Given the description of an element on the screen output the (x, y) to click on. 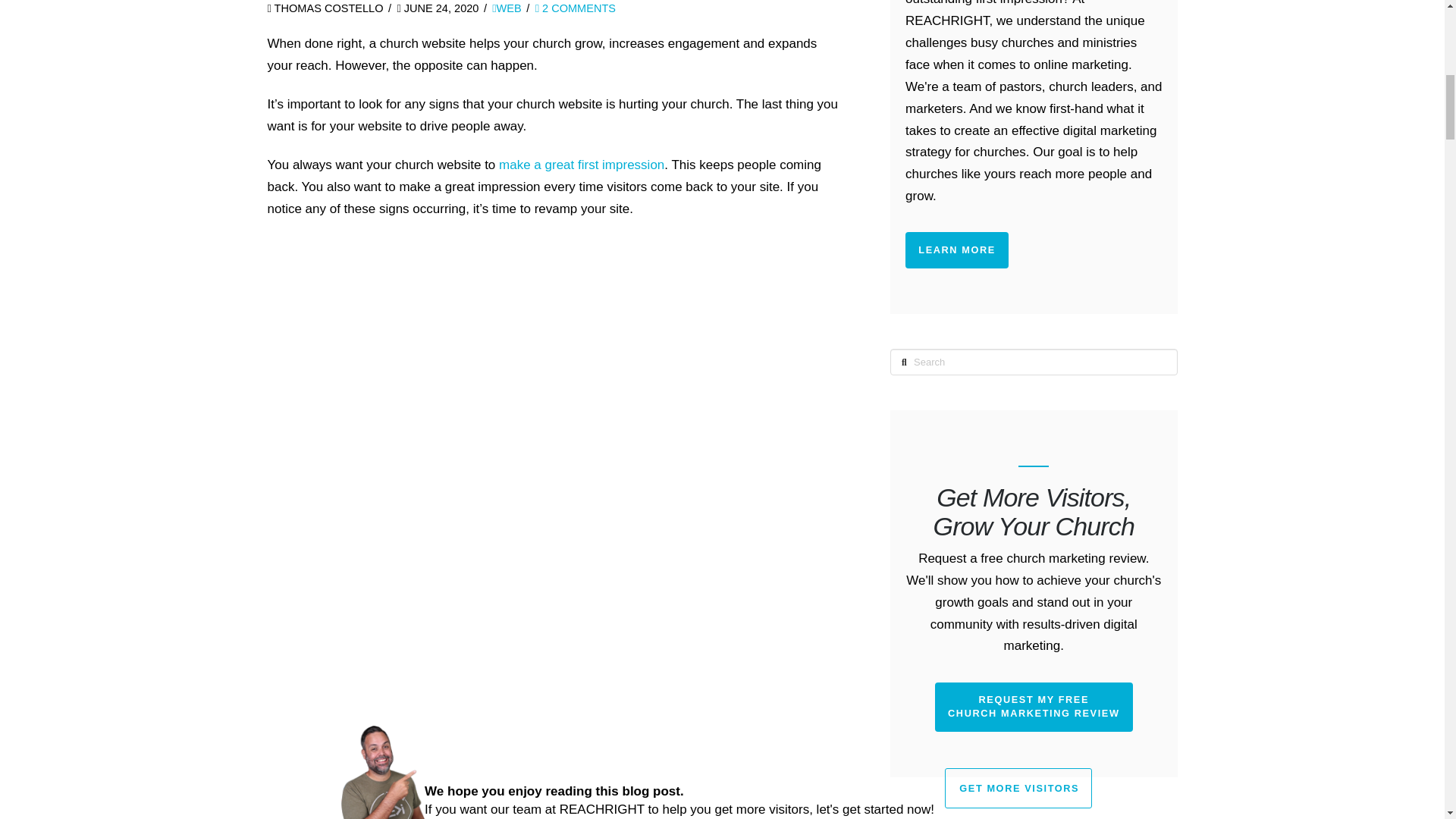
2 COMMENTS (575, 8)
WEB (506, 8)
make a great first impression (581, 164)
